Given the description of an element on the screen output the (x, y) to click on. 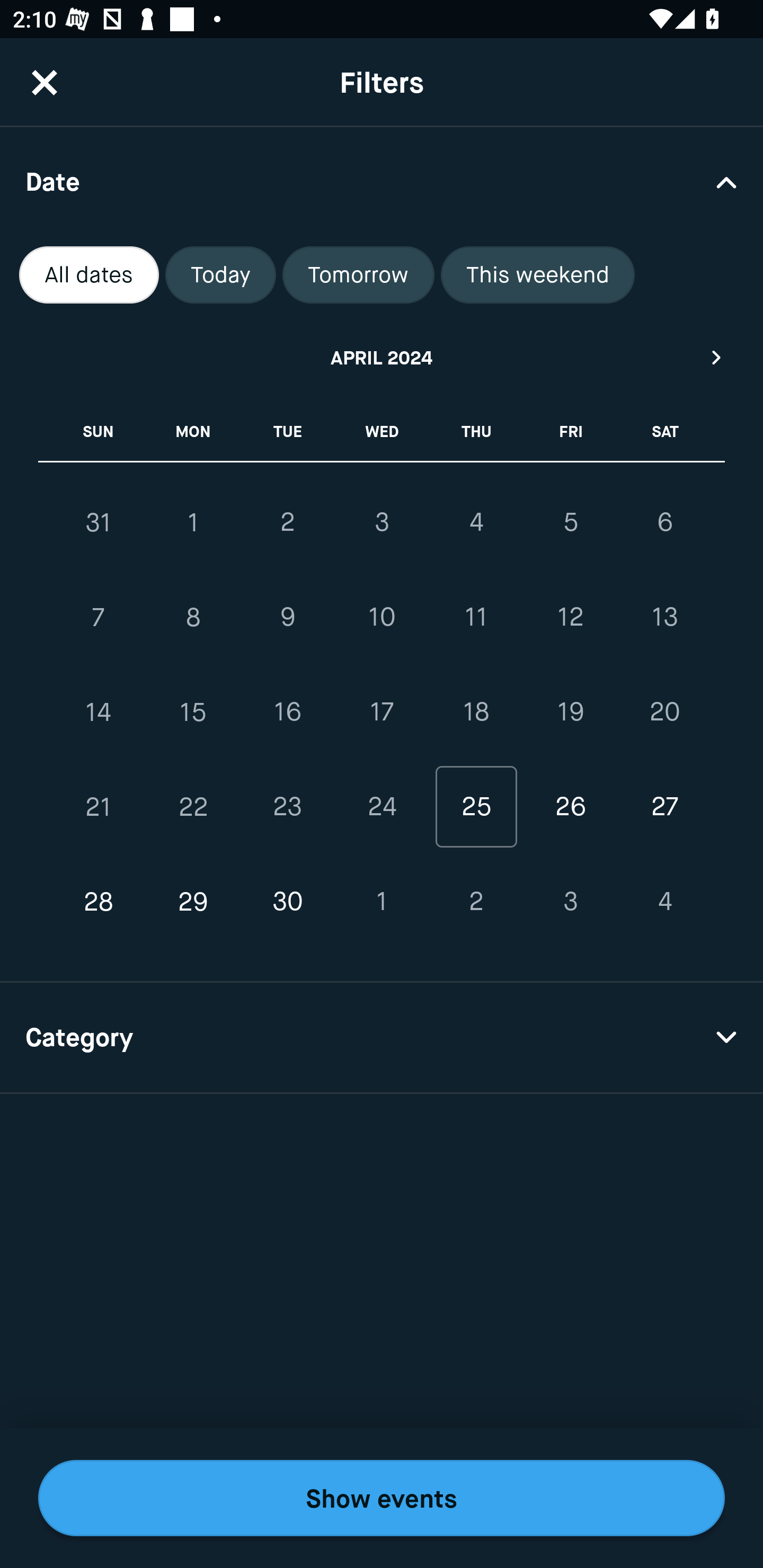
CloseButton (44, 82)
Date Drop Down Arrow (381, 181)
All dates (88, 274)
Today (220, 274)
Tomorrow (358, 274)
This weekend (537, 274)
Next (717, 357)
31 (98, 522)
1 (192, 522)
2 (287, 522)
3 (381, 522)
4 (475, 522)
5 (570, 522)
6 (664, 522)
7 (98, 617)
8 (192, 617)
9 (287, 617)
10 (381, 617)
11 (475, 617)
12 (570, 617)
13 (664, 617)
14 (98, 711)
15 (192, 711)
16 (287, 711)
17 (381, 711)
18 (475, 711)
19 (570, 711)
20 (664, 711)
21 (98, 806)
22 (192, 806)
23 (287, 806)
24 (381, 806)
25 (475, 806)
26 (570, 806)
27 (664, 806)
28 (98, 901)
29 (192, 901)
30 (287, 901)
1 (381, 901)
2 (475, 901)
3 (570, 901)
4 (664, 901)
Category Drop Down Arrow (381, 1038)
Show events (381, 1497)
